Given the description of an element on the screen output the (x, y) to click on. 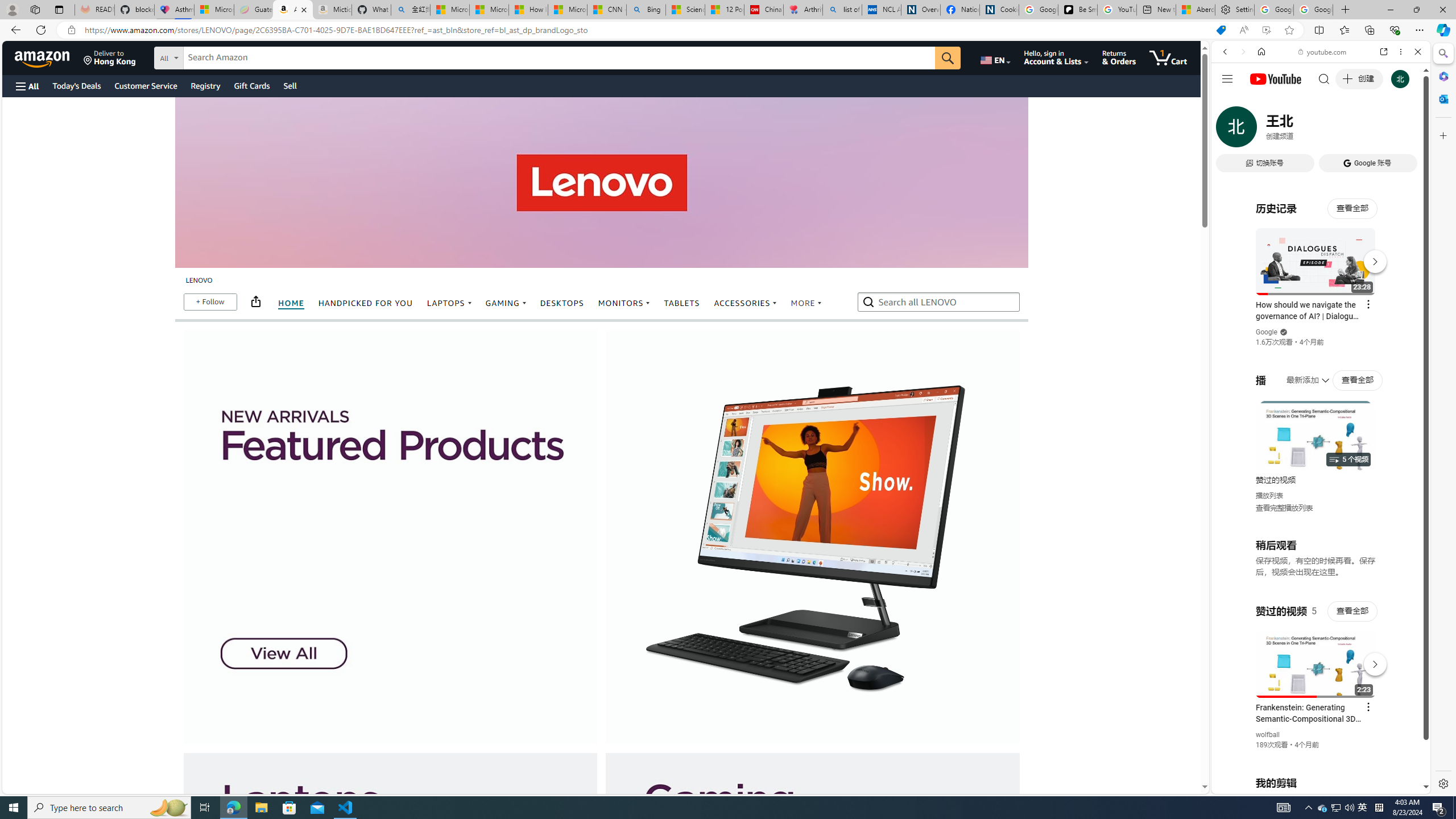
youtube.com (1322, 51)
Returns & Orders (1119, 57)
YouTube - YouTube (1315, 560)
LENOVO breadcrumb (197, 281)
Share (255, 301)
